Given the description of an element on the screen output the (x, y) to click on. 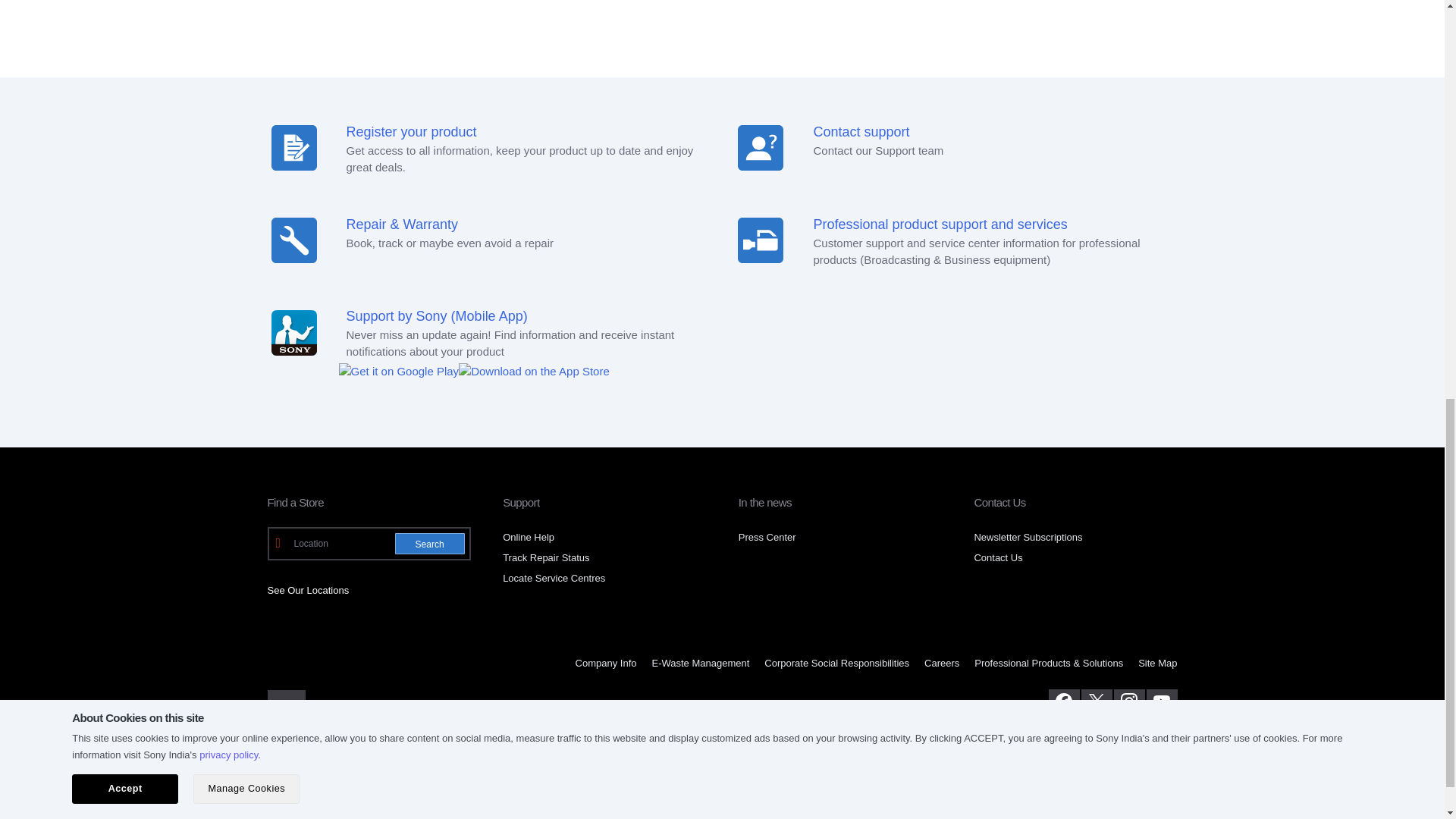
nntnnnttnn (760, 239)
